Given the description of an element on the screen output the (x, y) to click on. 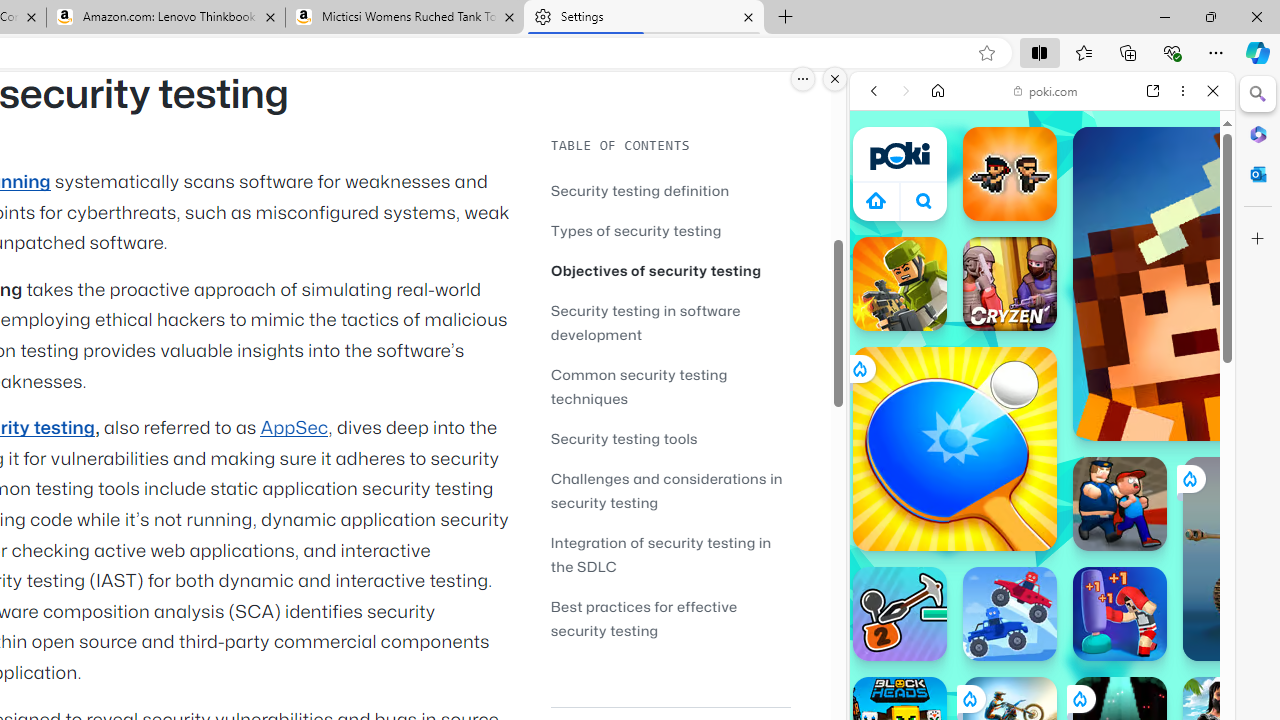
Two Player Games (1042, 568)
Sports Games (1042, 666)
Best practices for effective security testing (644, 618)
Shooting Games (1042, 518)
Types of security testing (635, 230)
